Given the description of an element on the screen output the (x, y) to click on. 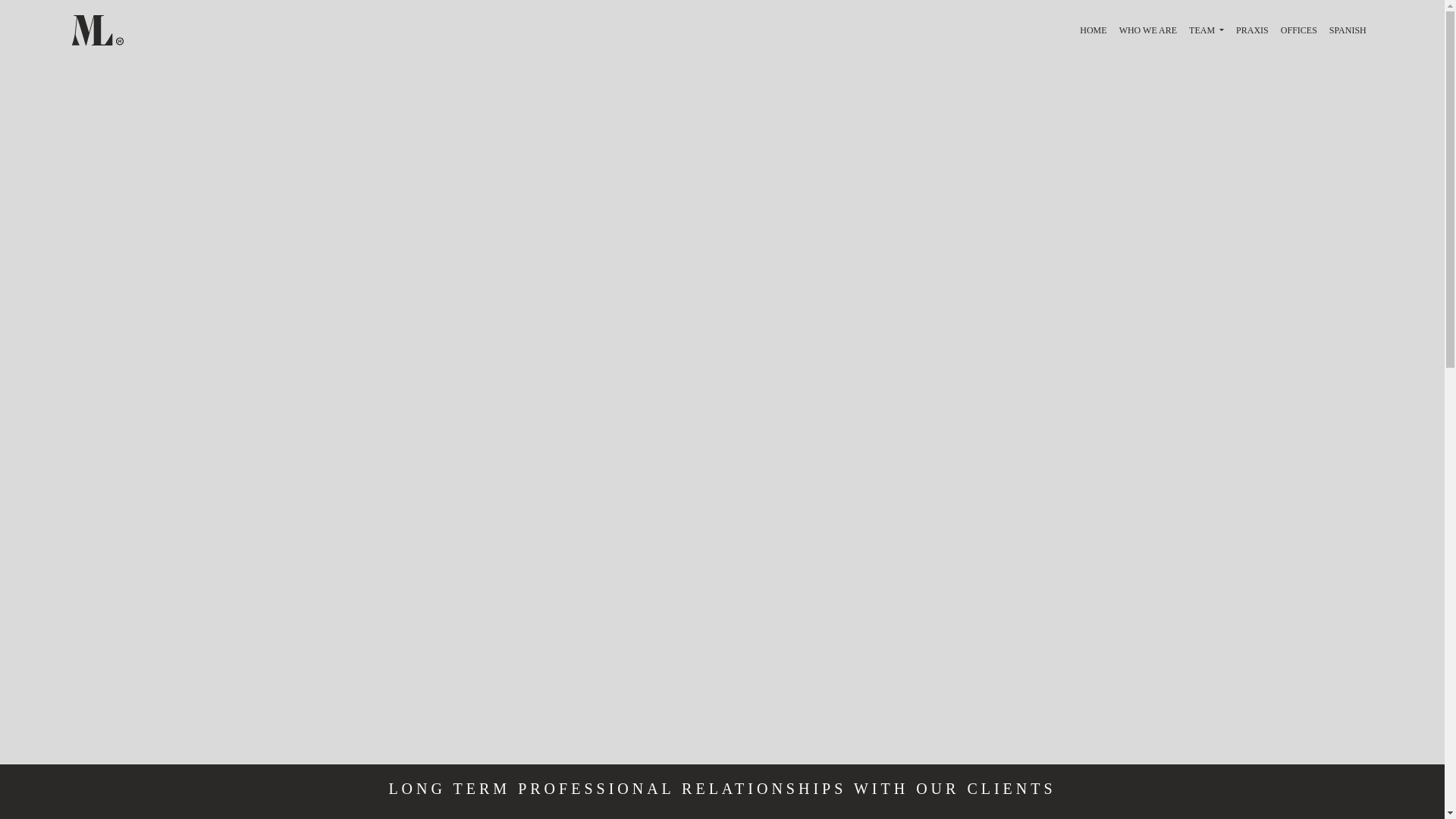
OFFICES (1299, 30)
WHO WE ARE (1147, 30)
SPANISH (1348, 30)
TEAM (1206, 30)
PRAXIS (1252, 30)
